Given the description of an element on the screen output the (x, y) to click on. 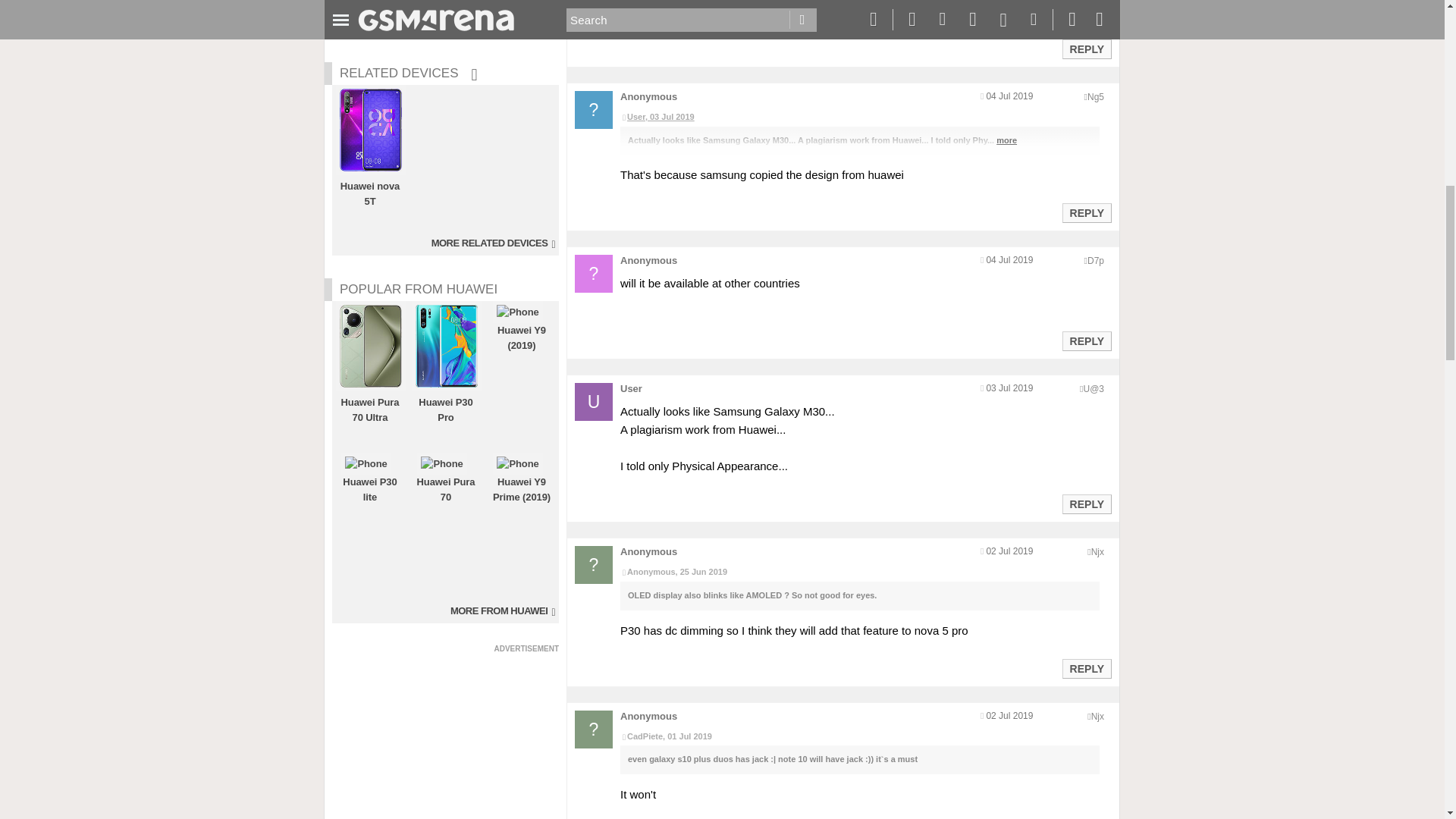
Reply to this post (1086, 340)
Reply to this post (1086, 213)
Encoded anonymized location (1093, 388)
Encoded anonymized location (1095, 96)
Encoded anonymized location (1096, 552)
Reply to this post (1086, 503)
Encoded anonymized location (1095, 260)
Reply to this post (1086, 49)
